Given the description of an element on the screen output the (x, y) to click on. 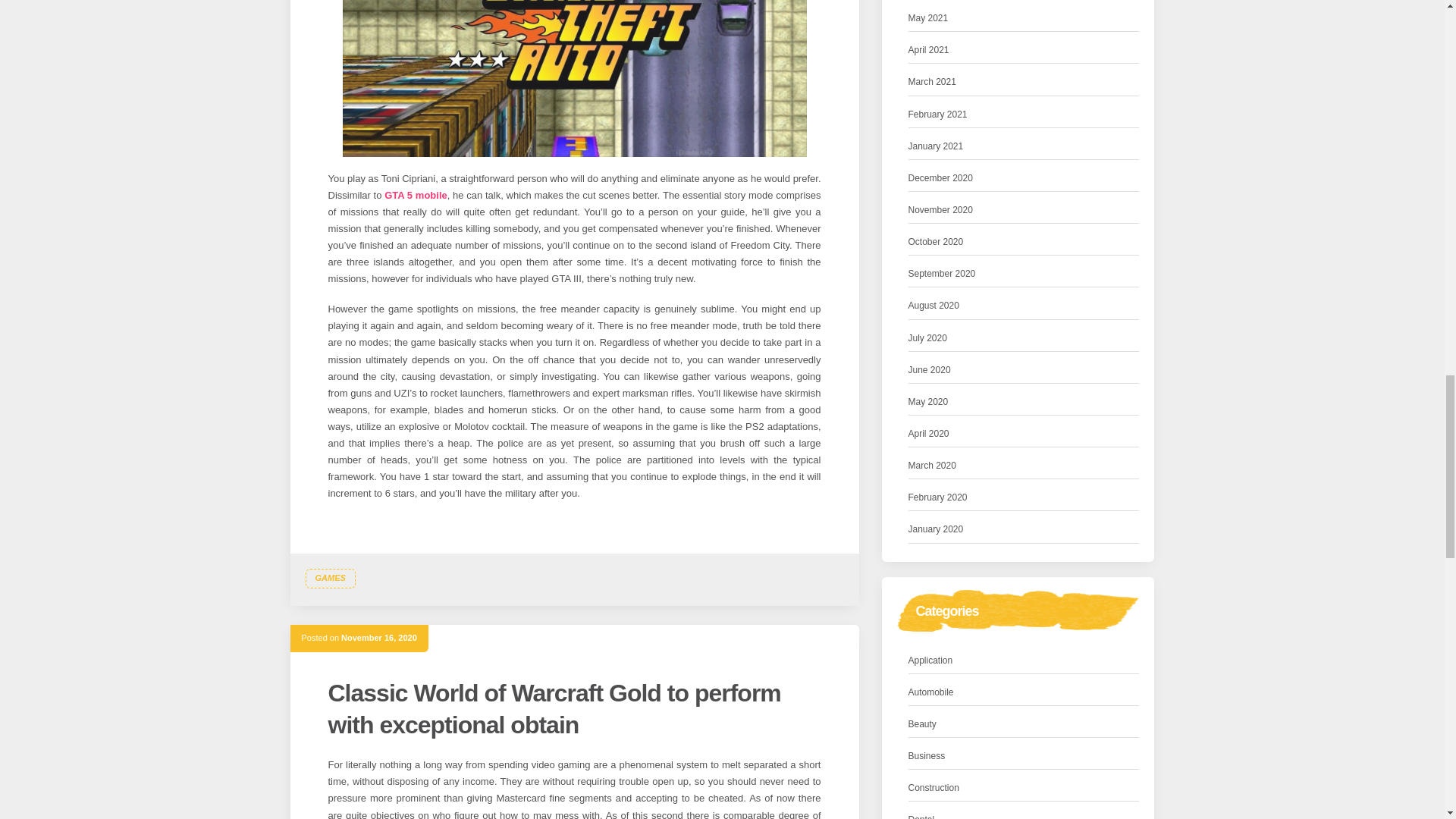
GAMES (329, 578)
GTA 5 mobile (415, 194)
November 16, 2020 (378, 637)
